Given the description of an element on the screen output the (x, y) to click on. 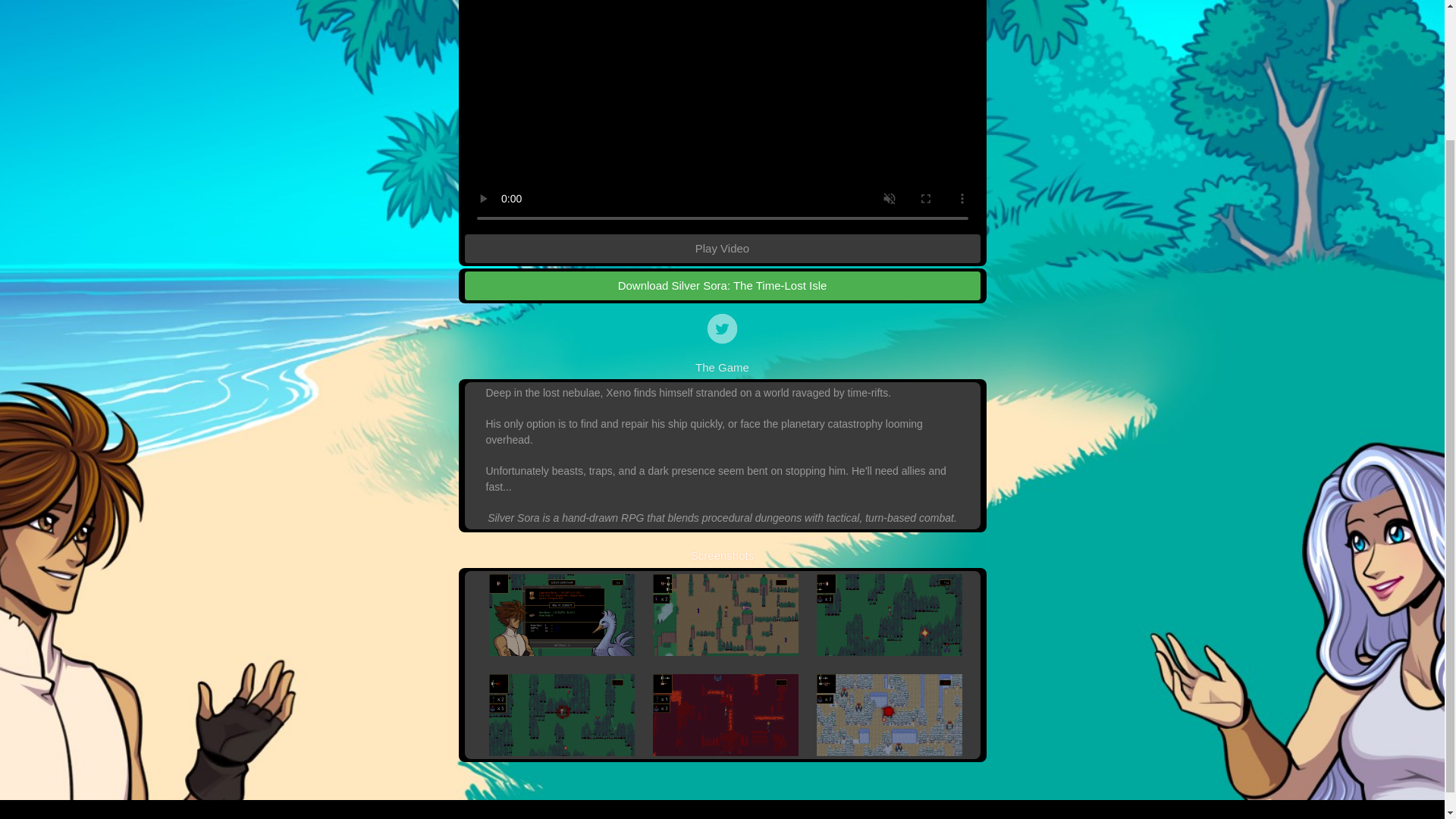
Download Silver Sora: The Time-Lost Isle (721, 286)
Play Video (721, 247)
